Given the description of an element on the screen output the (x, y) to click on. 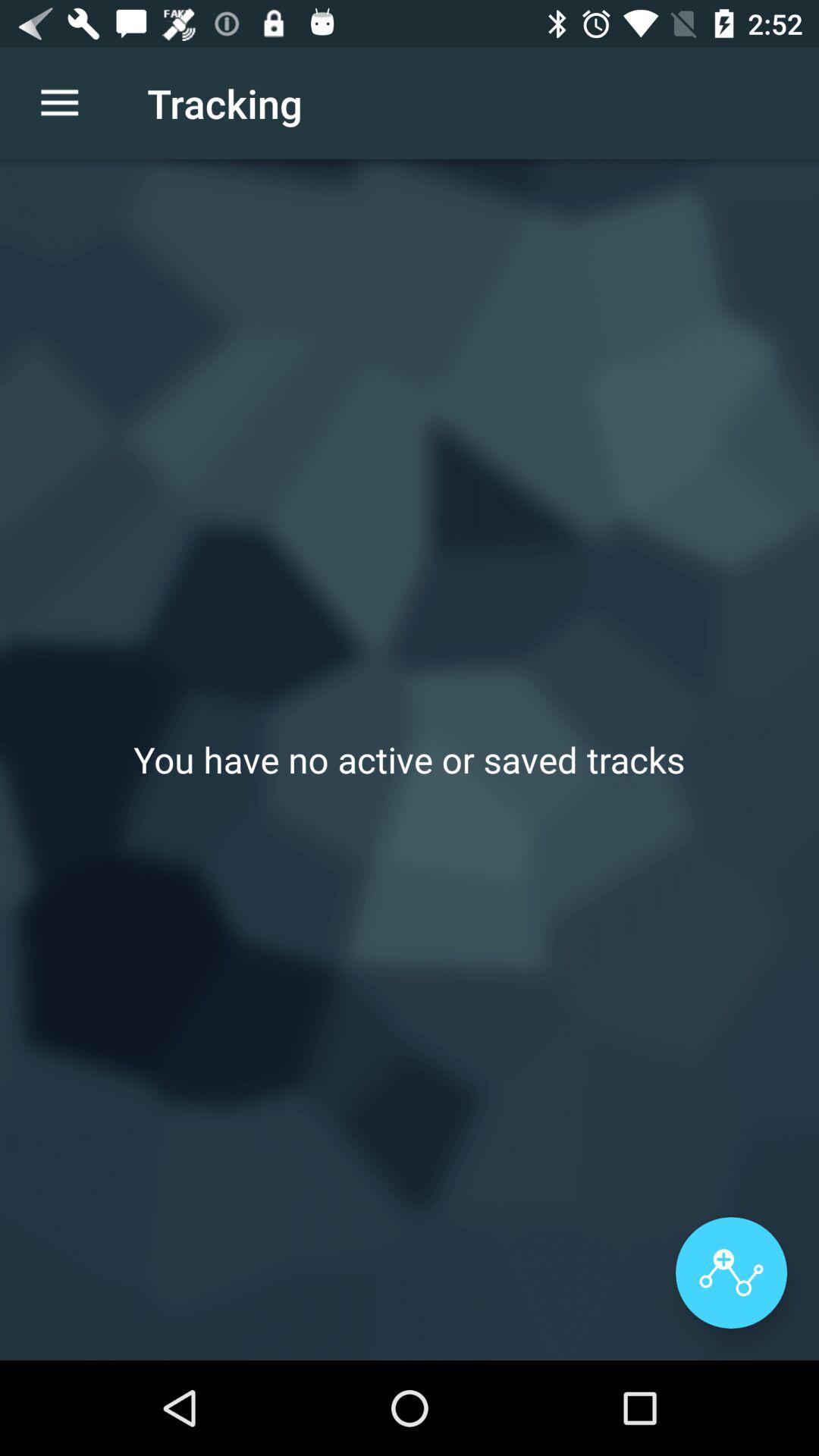
open icon at the bottom right corner (731, 1272)
